Given the description of an element on the screen output the (x, y) to click on. 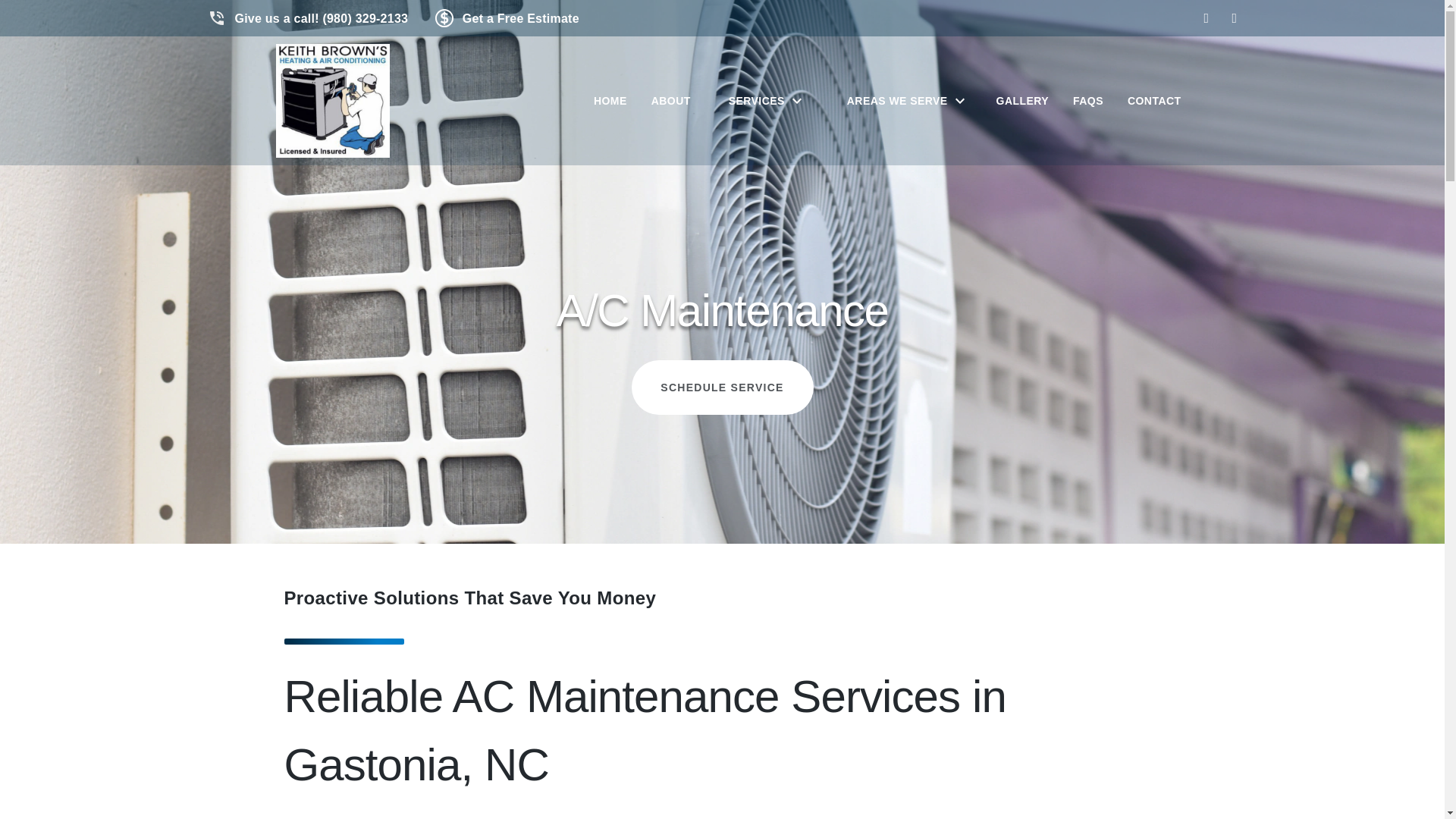
CONTACT (1154, 101)
GALLERY (1022, 101)
AREAS WE SERVE (902, 101)
ABOUT (670, 101)
FAQS (1087, 101)
Get a Free Estimate (507, 18)
SERVICES (761, 101)
HOME (610, 101)
